Given the description of an element on the screen output the (x, y) to click on. 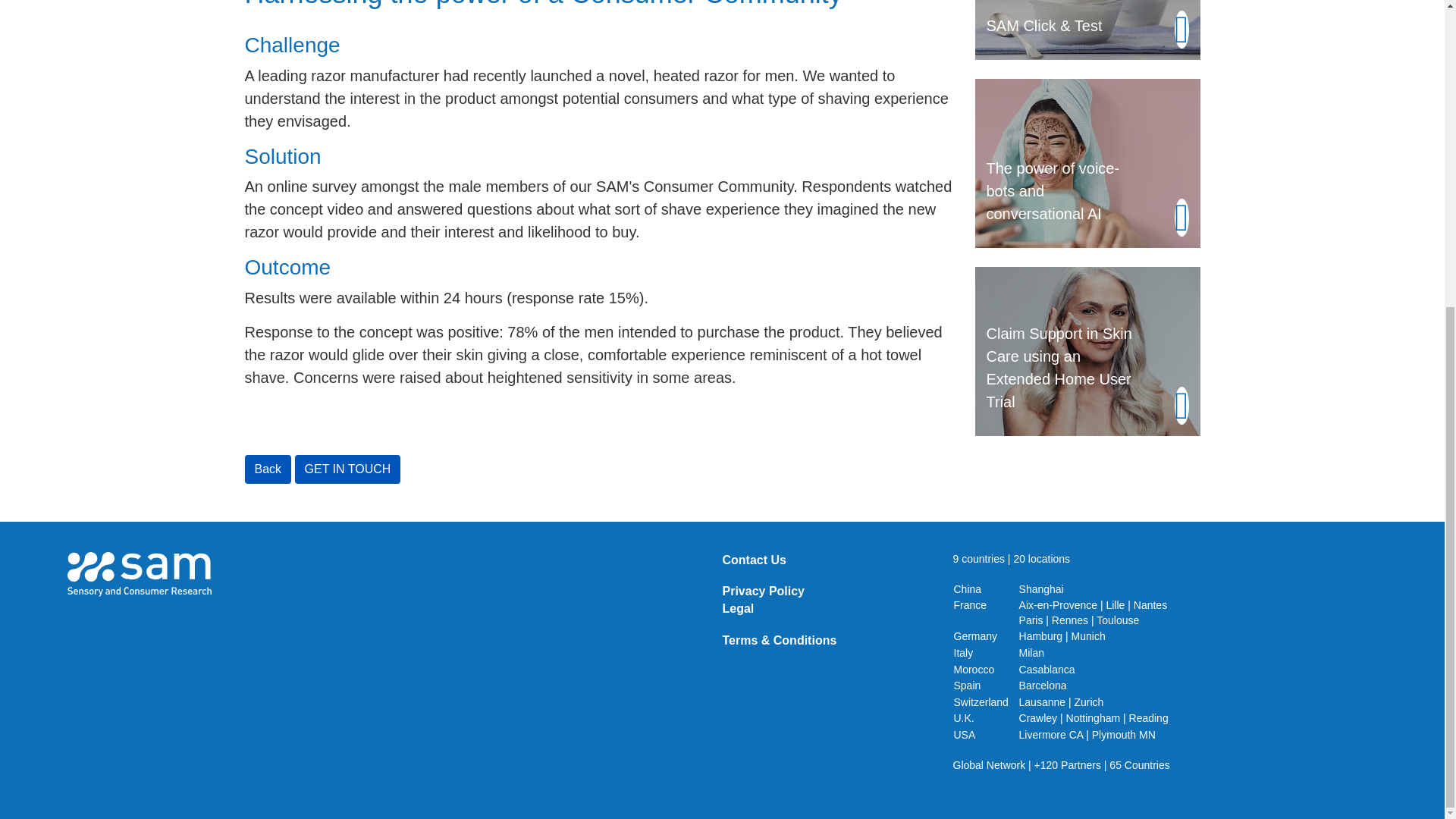
Legal (738, 608)
Contact Us (754, 558)
Back (267, 468)
GET IN TOUCH (348, 468)
Privacy Policy (763, 590)
Claim Support in Skin Care using an Extended Home User Trial (1087, 349)
The power of voice-bots and conversational AI (1087, 161)
